Given the description of an element on the screen output the (x, y) to click on. 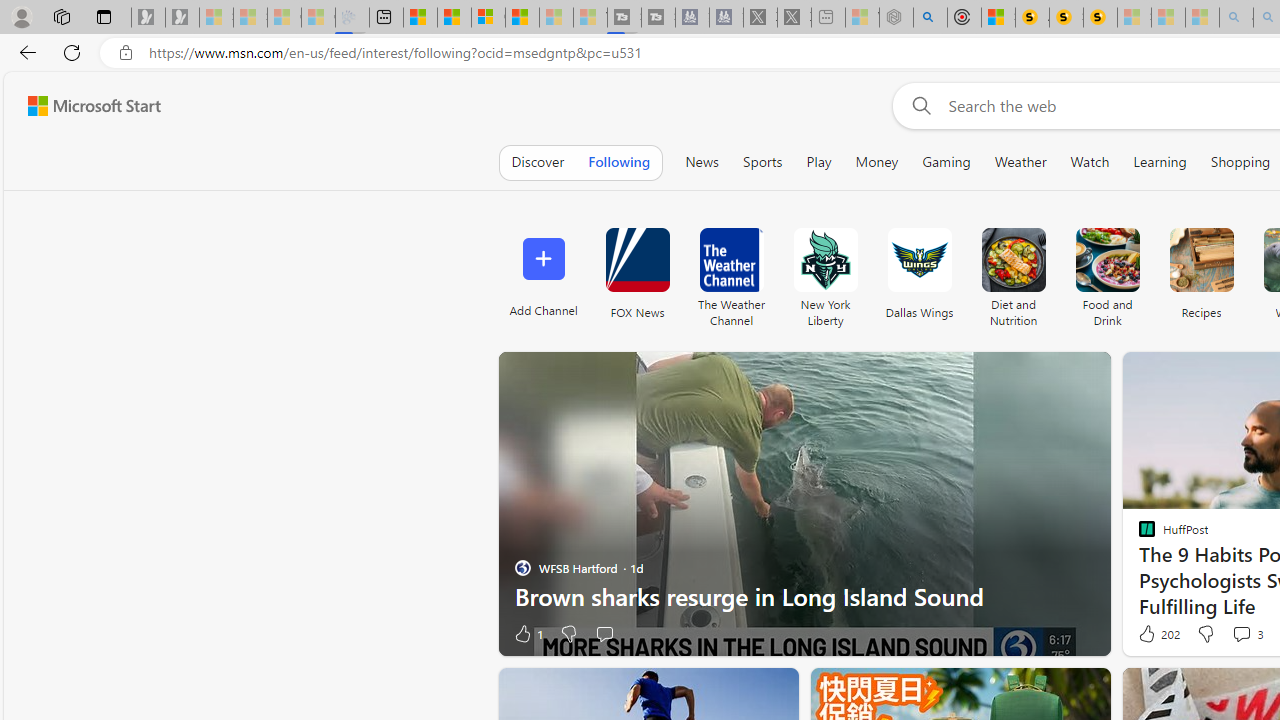
Michelle Starr, Senior Journalist at ScienceAlert (1100, 17)
Shopping (1240, 161)
Wildlife - MSN - Sleeping (862, 17)
Skip to footer (82, 105)
Hide this story (738, 691)
Web search (917, 105)
Newsletter Sign Up - Sleeping (182, 17)
Dallas Wings (919, 272)
Nordace - Summer Adventures 2024 - Sleeping (895, 17)
Recipes (1200, 260)
